Given the description of an element on the screen output the (x, y) to click on. 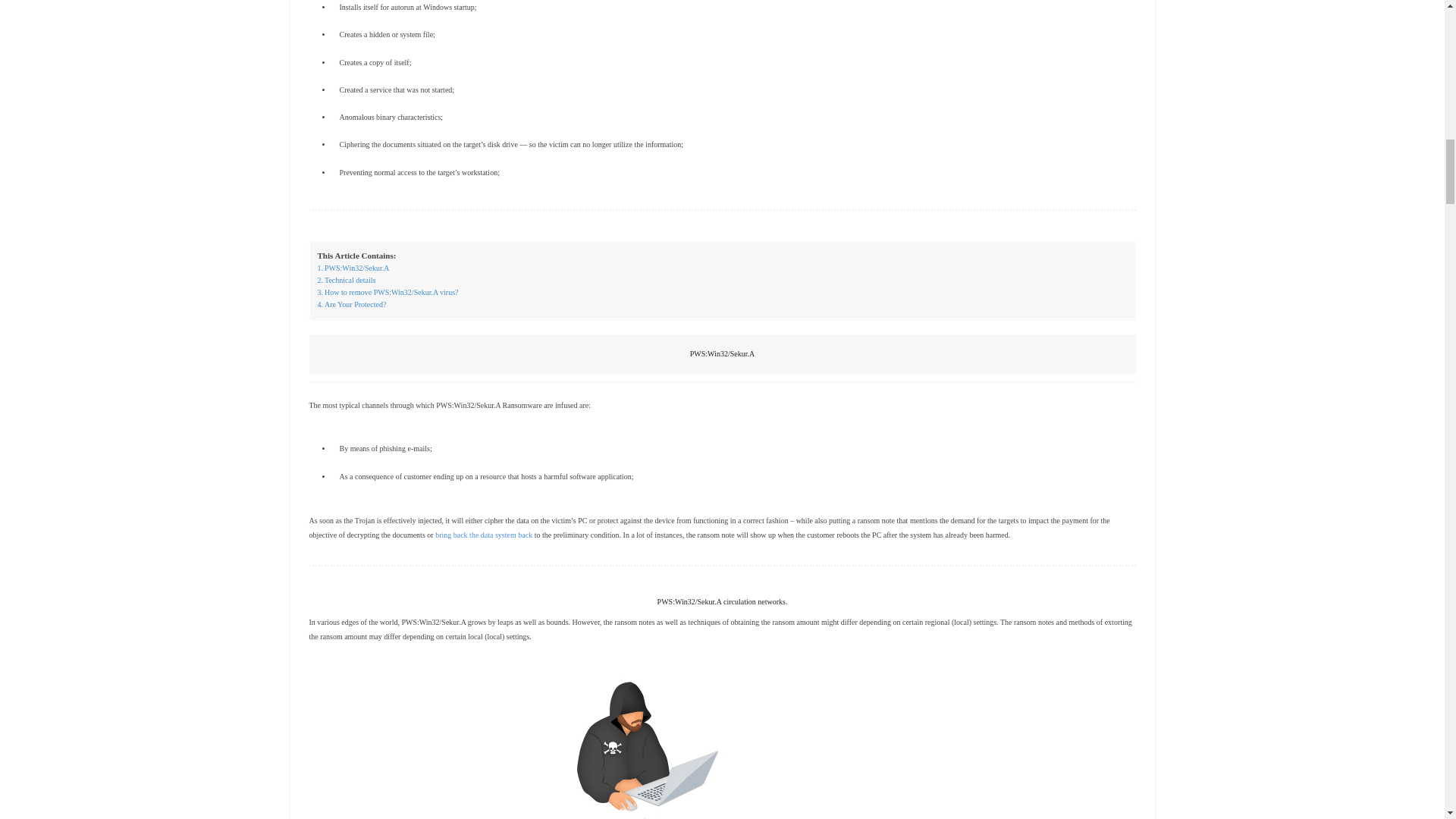
Technical details (346, 280)
Are Your Protected? (351, 304)
Technical details (346, 280)
Are Your Protected? (351, 304)
bring back the data system back (483, 534)
